Given the description of an element on the screen output the (x, y) to click on. 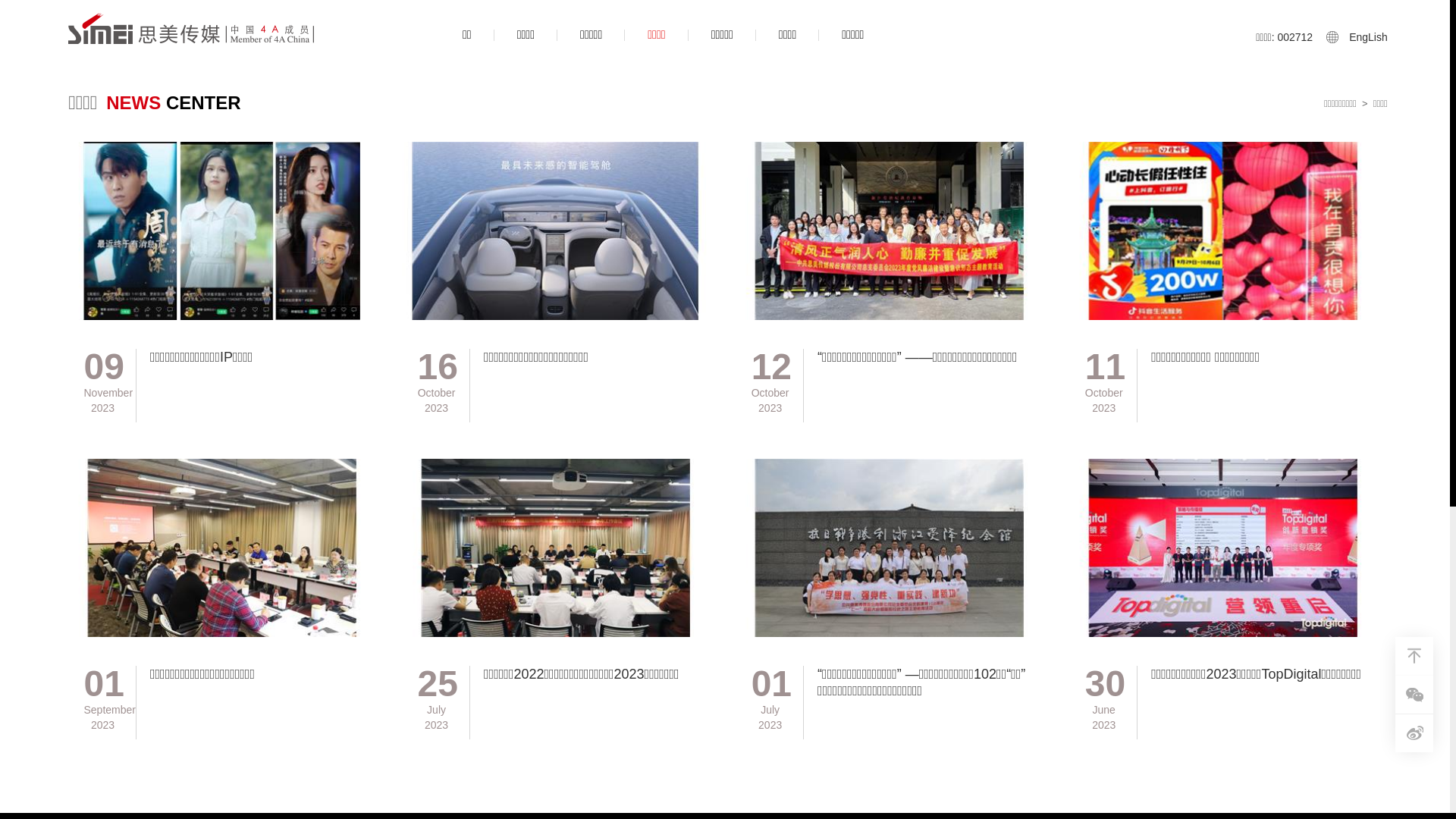
EngLish Element type: text (1368, 36)
